Given the description of an element on the screen output the (x, y) to click on. 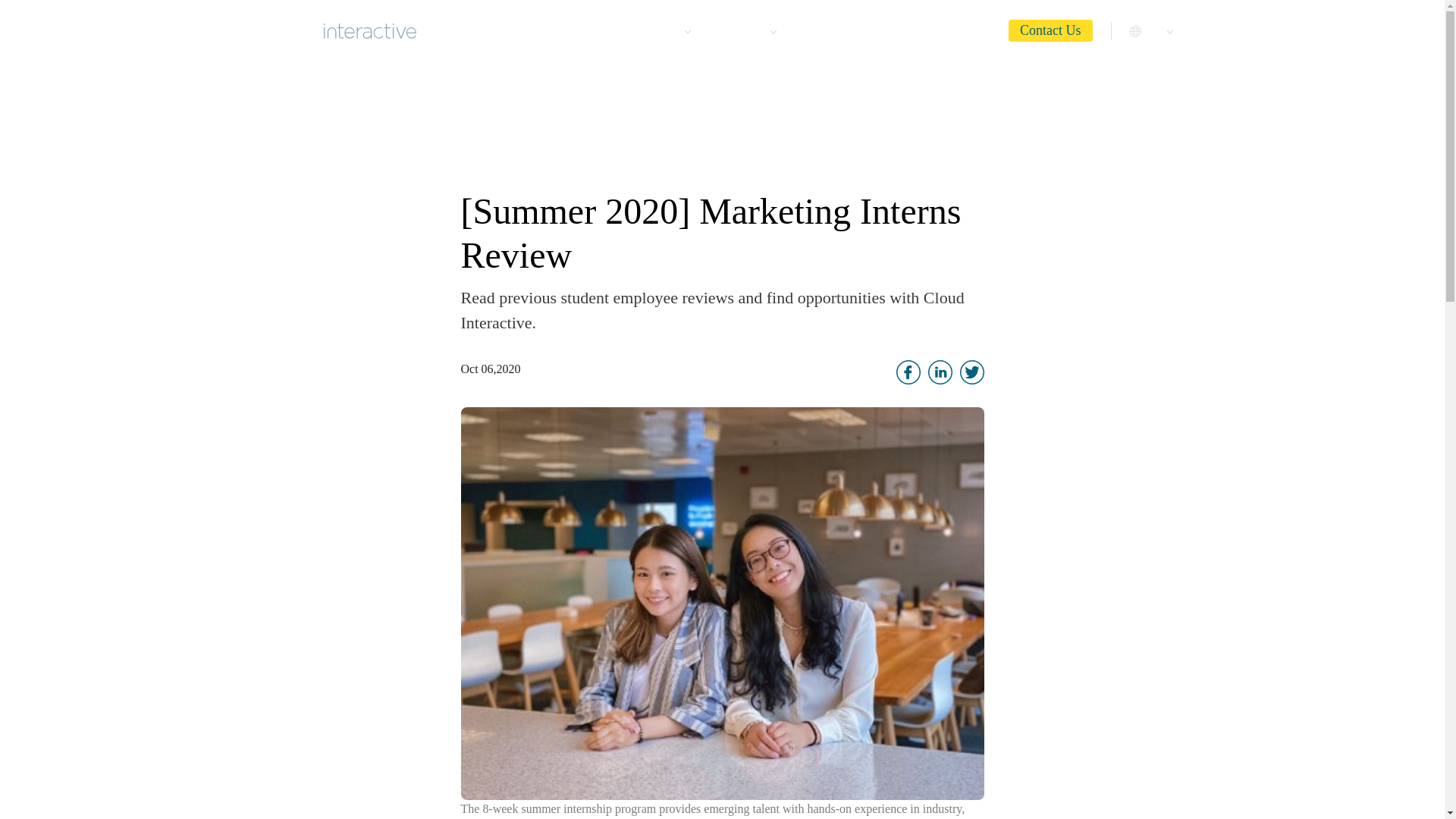
About Us (582, 29)
Careers (907, 29)
Case Studies (834, 29)
EN (1153, 29)
Industries (660, 29)
Solutions (746, 29)
Contact Us (1051, 30)
Insights (968, 29)
